Given the description of an element on the screen output the (x, y) to click on. 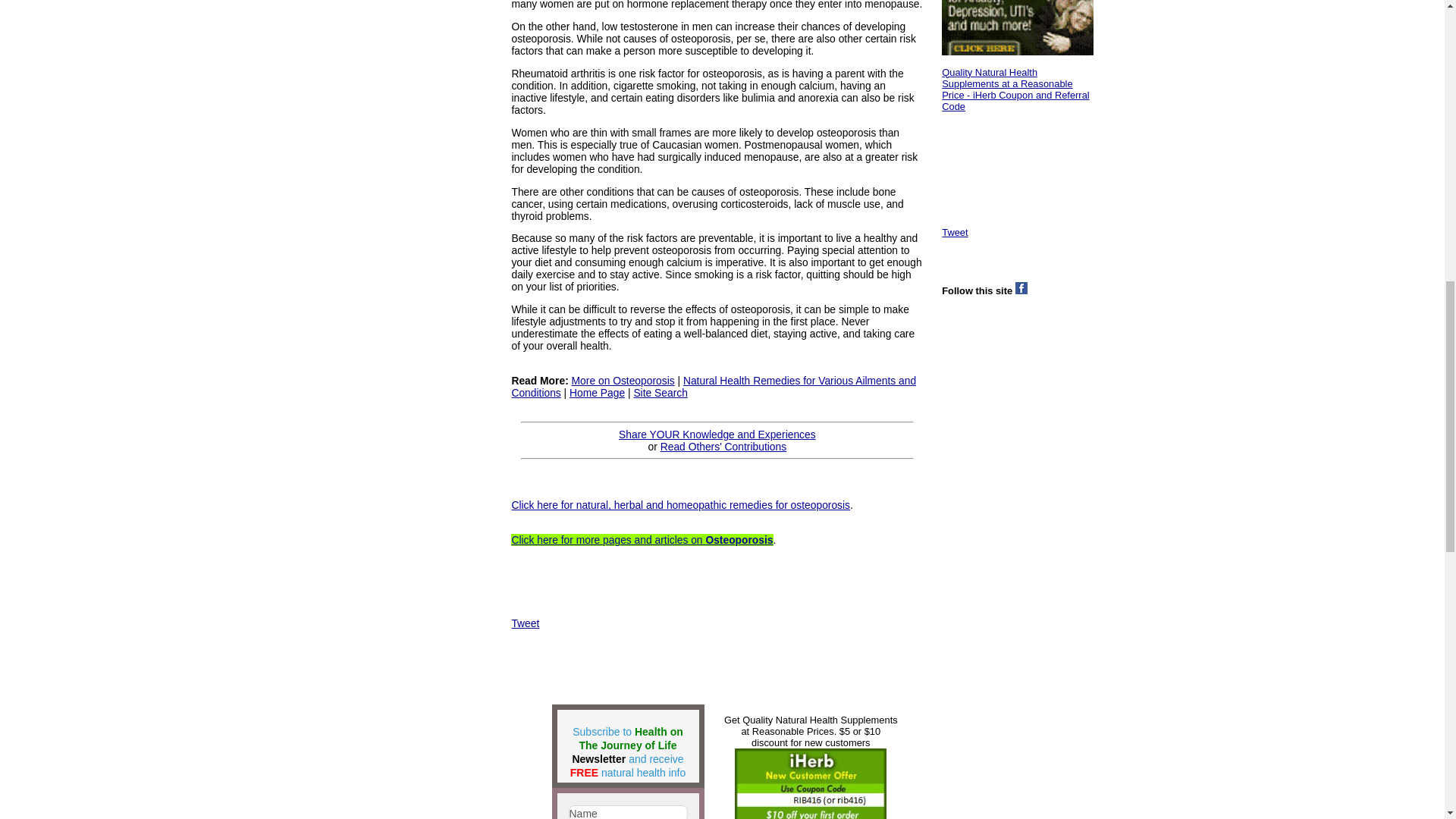
Click here for more pages and articles on Osteoporosis (642, 539)
Read Others' Contributions (723, 446)
Home Page (596, 392)
Natural Health Remedies for Various Ailments and Conditions (713, 386)
Share YOUR Knowledge and Experiences (716, 434)
Site Search (660, 392)
Tweet (524, 623)
Name (628, 812)
More on Osteoporosis (623, 380)
